Given the description of an element on the screen output the (x, y) to click on. 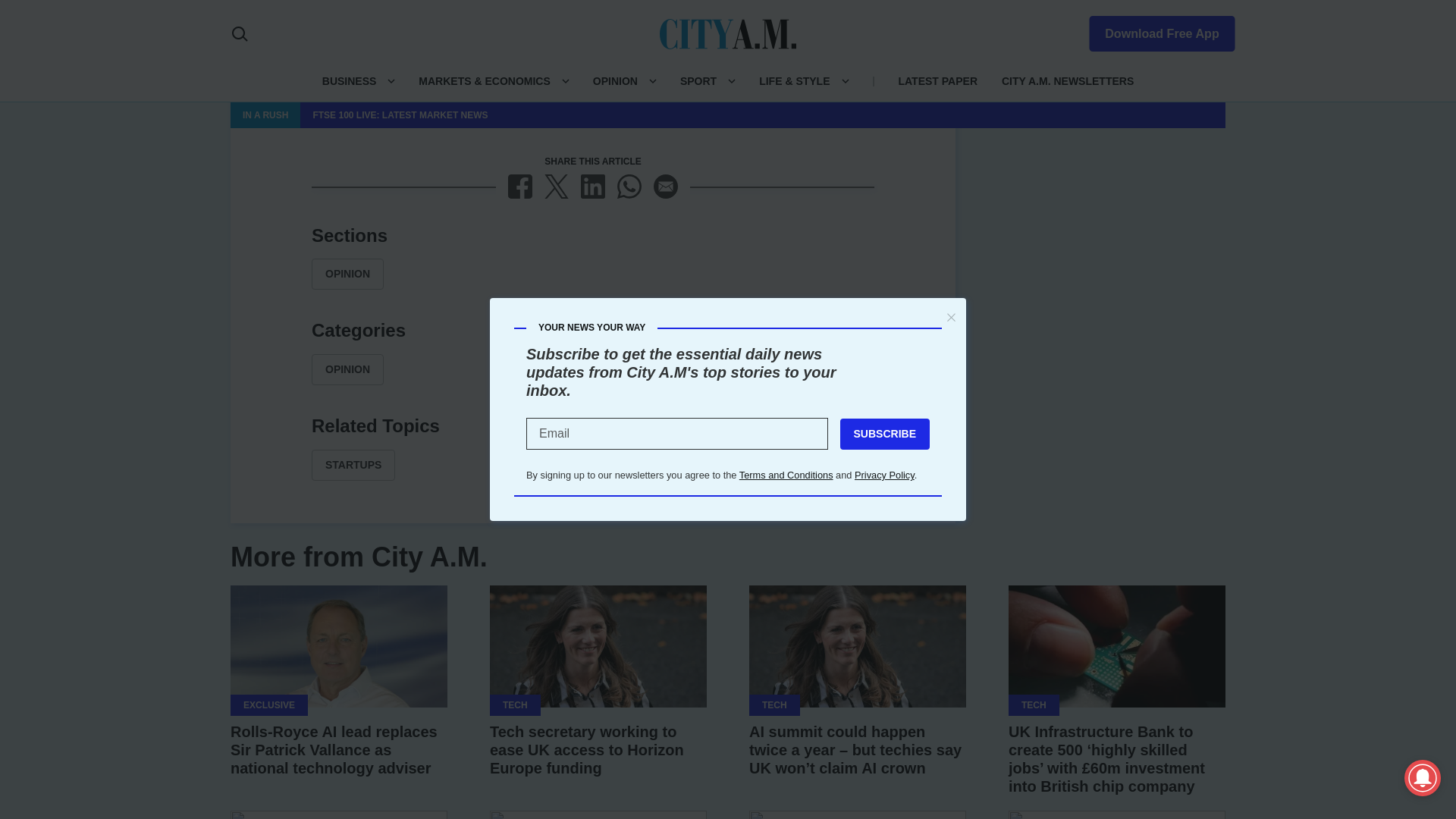
Email (665, 186)
X (556, 186)
Facebook (520, 186)
LinkedIn (592, 186)
WhatsApp (629, 186)
